Given the description of an element on the screen output the (x, y) to click on. 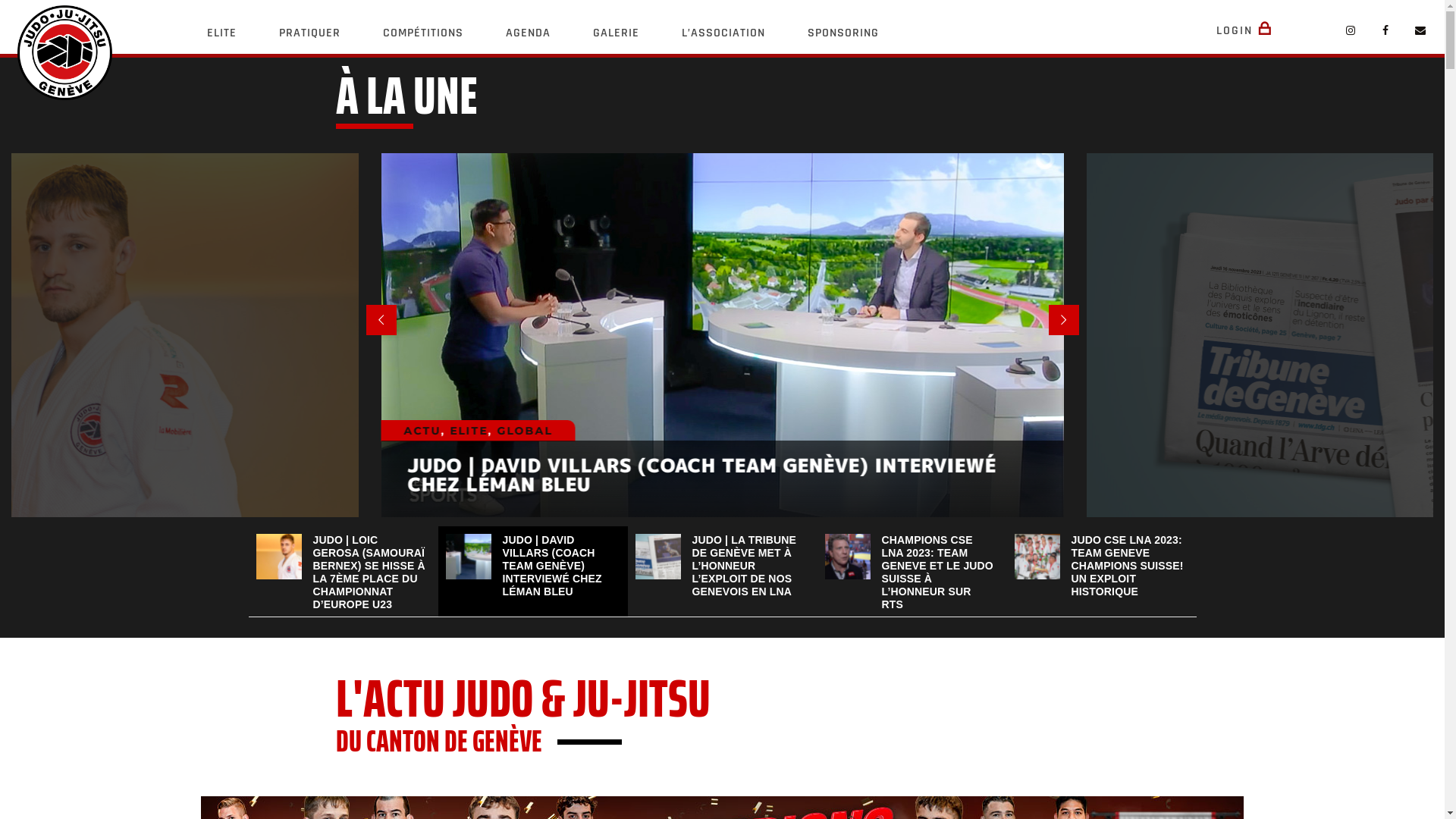
L'ACTU JUDO & JU-JITSU Element type: text (721, 697)
GALERIE Element type: text (615, 33)
SPONSORING Element type: text (843, 33)
AGENDA Element type: text (527, 33)
ELITE Element type: text (469, 430)
PRATIQUER Element type: text (309, 33)
ACTU Element type: text (421, 430)
ELITE Element type: text (221, 33)
